Given the description of an element on the screen output the (x, y) to click on. 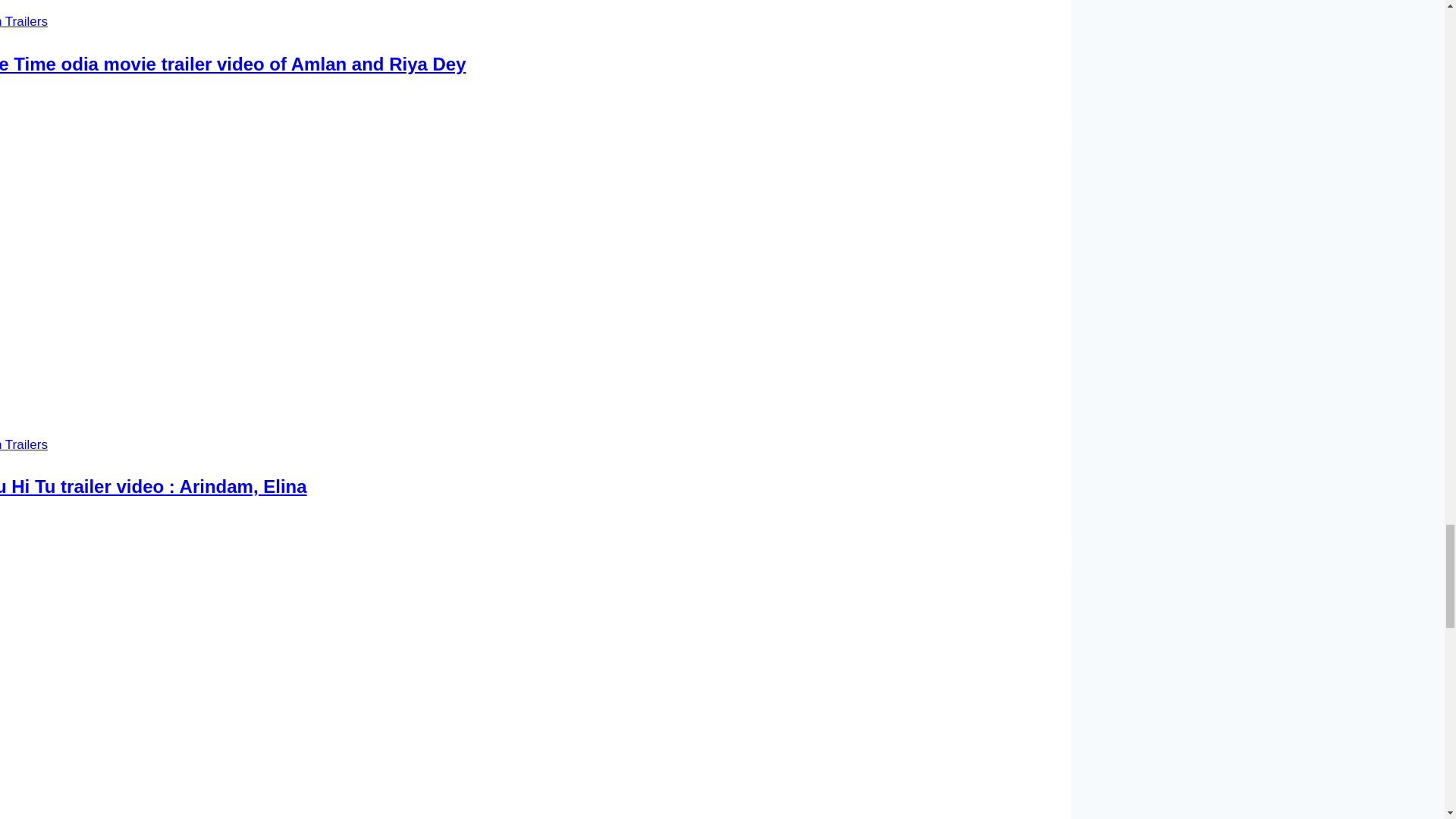
Oriya Film Trailers (24, 21)
College Time odia movie trailer video of Amlan and Riya Dey (232, 64)
Ishq Tu Hi Tu trailer video : Arindam, Elina (153, 485)
Oriya Film Trailers (24, 444)
